Given the description of an element on the screen output the (x, y) to click on. 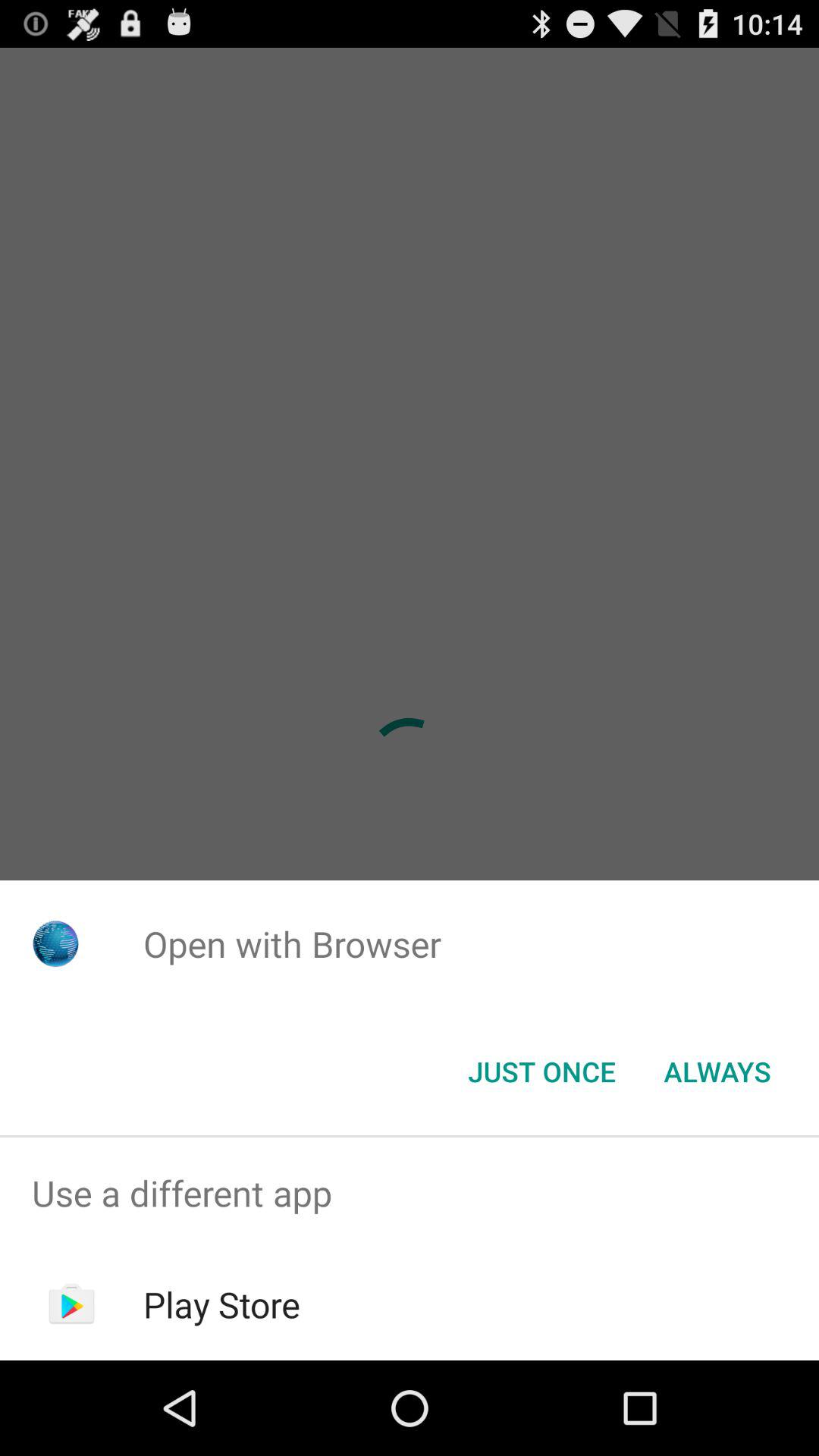
choose app below use a different item (221, 1304)
